Given the description of an element on the screen output the (x, y) to click on. 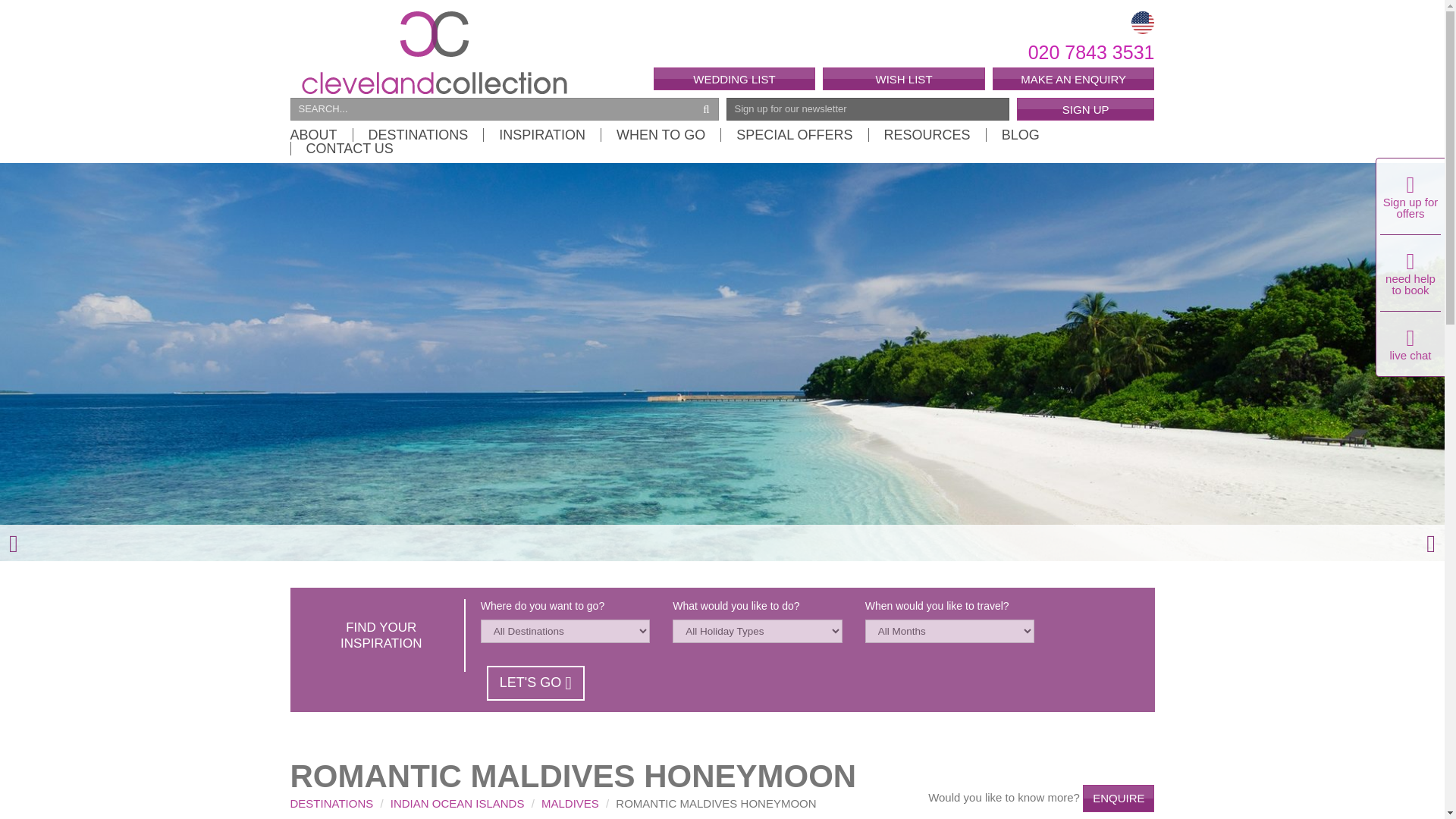
SIGN UP (1085, 108)
ABOUT (320, 134)
DESTINATIONS (417, 134)
INSPIRATION (541, 134)
WISH LIST (903, 78)
WHEN TO GO (659, 134)
SPECIAL OFFERS (793, 134)
RESOURCES (926, 134)
CONTACT US (341, 148)
BLOG (1019, 134)
MAKE AN ENQUIRY (1073, 78)
WEDDING LIST (734, 78)
